Given the description of an element on the screen output the (x, y) to click on. 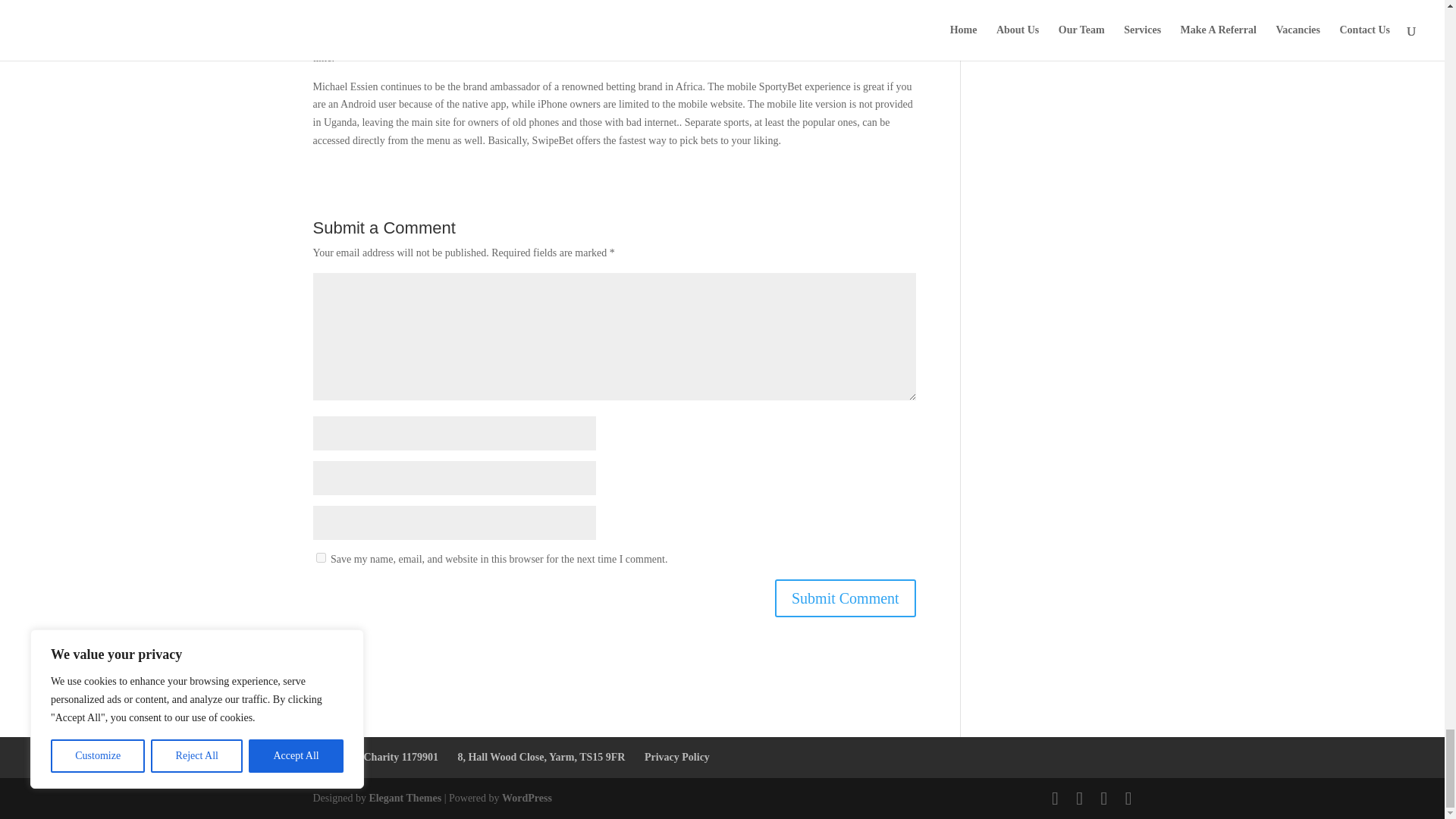
Submit Comment (844, 598)
yes (319, 557)
Premium WordPress Themes (404, 797)
Submit Comment (844, 598)
